Given the description of an element on the screen output the (x, y) to click on. 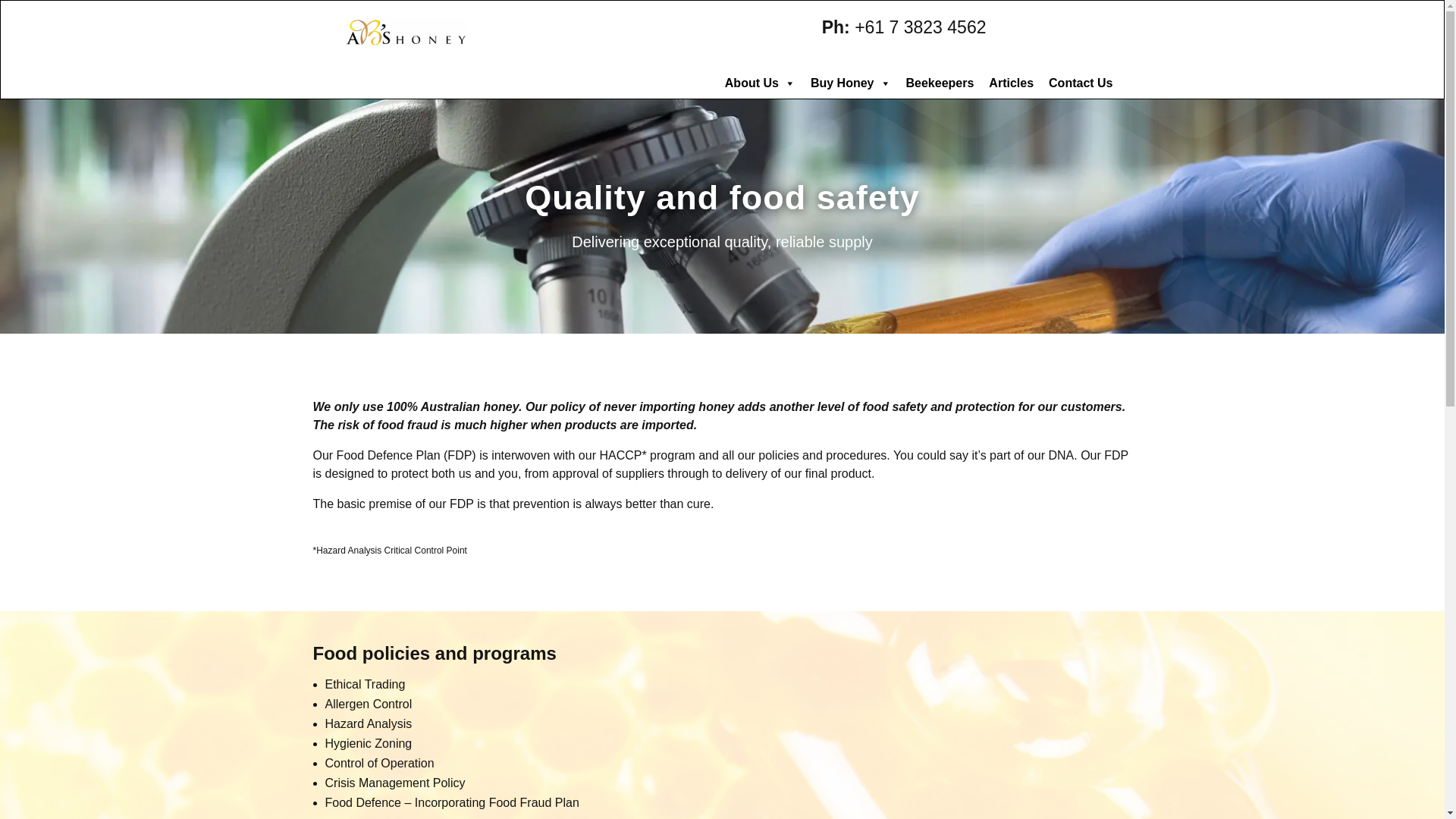
Buy Honey (850, 82)
About Us (760, 82)
Contact Us (1080, 82)
Beekeepers (939, 82)
Articles (1011, 82)
ABS-Honey-horizontal (406, 31)
